Given the description of an element on the screen output the (x, y) to click on. 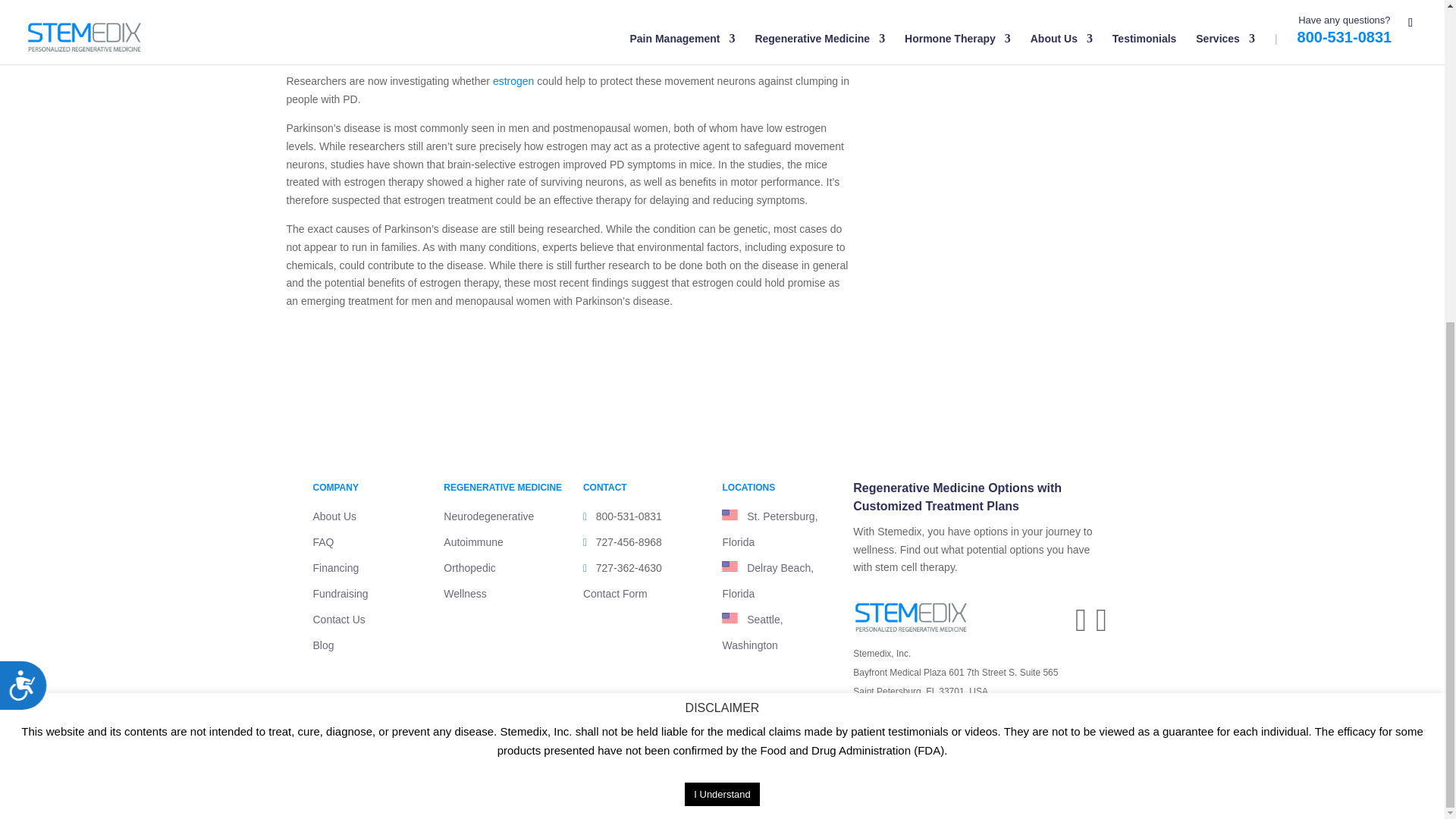
Accessibility (29, 165)
